Given the description of an element on the screen output the (x, y) to click on. 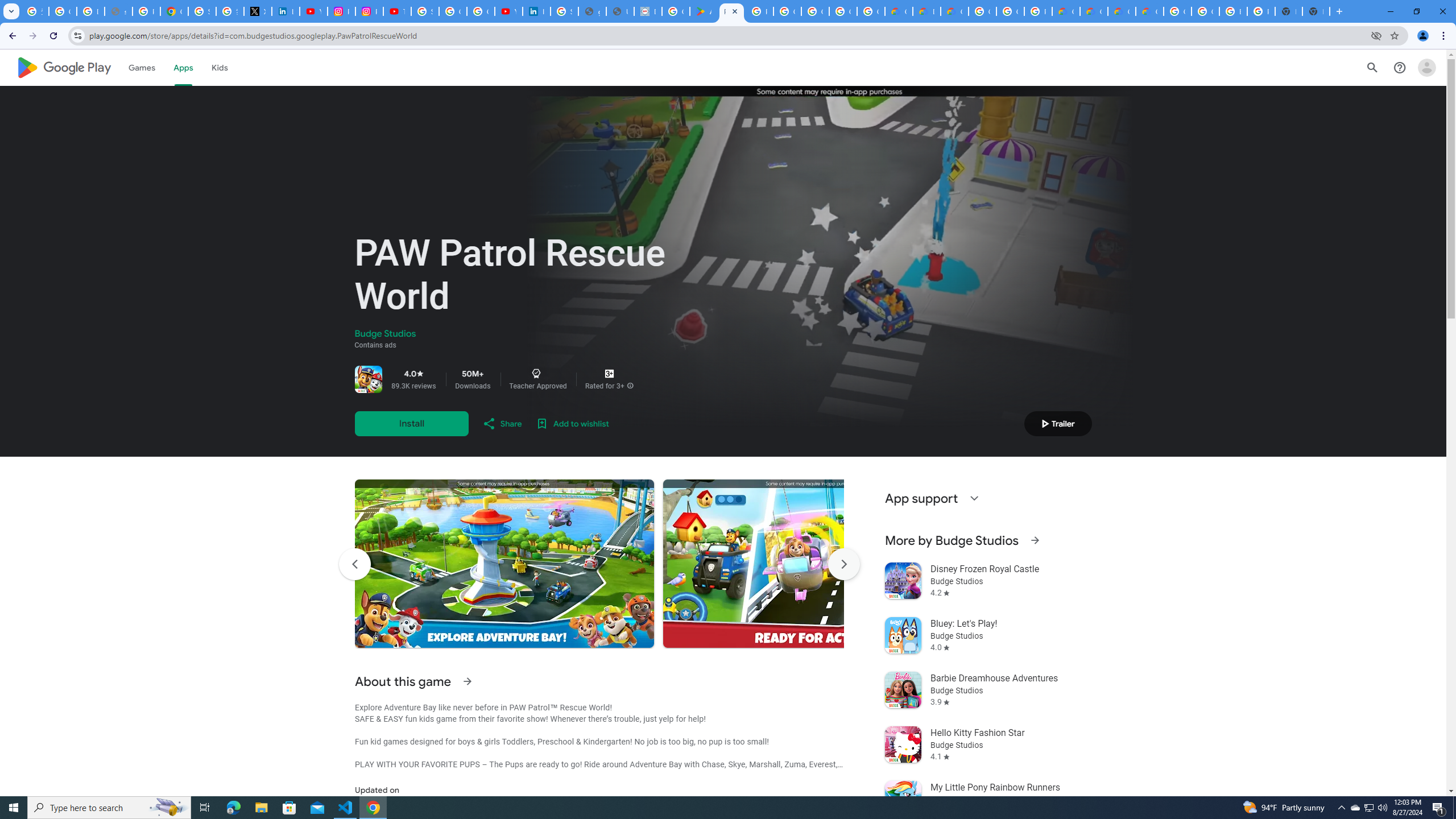
Google Cloud Platform (1010, 11)
Add to wishlist (571, 422)
Privacy Help Center - Policies Help (146, 11)
Screenshot image (812, 563)
New Tab (1316, 11)
Data Privacy Framework (647, 11)
X (257, 11)
